Given the description of an element on the screen output the (x, y) to click on. 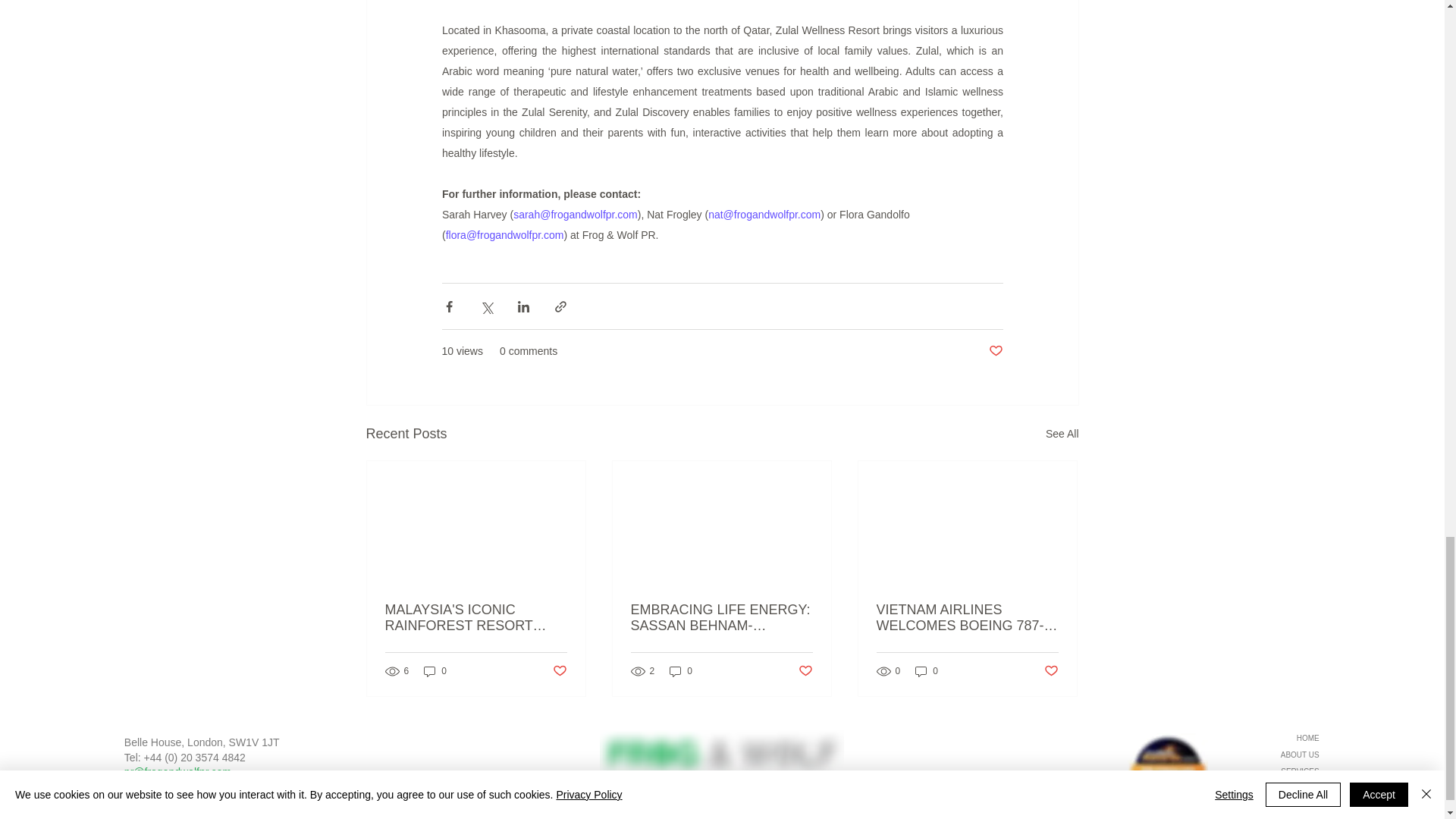
0 (926, 671)
Post not marked as liked (804, 670)
Post not marked as liked (995, 351)
Post not marked as liked (1050, 670)
ABOUT US (1266, 754)
See All (1061, 434)
0 (435, 671)
HOME (1266, 738)
0 (681, 671)
